Given the description of an element on the screen output the (x, y) to click on. 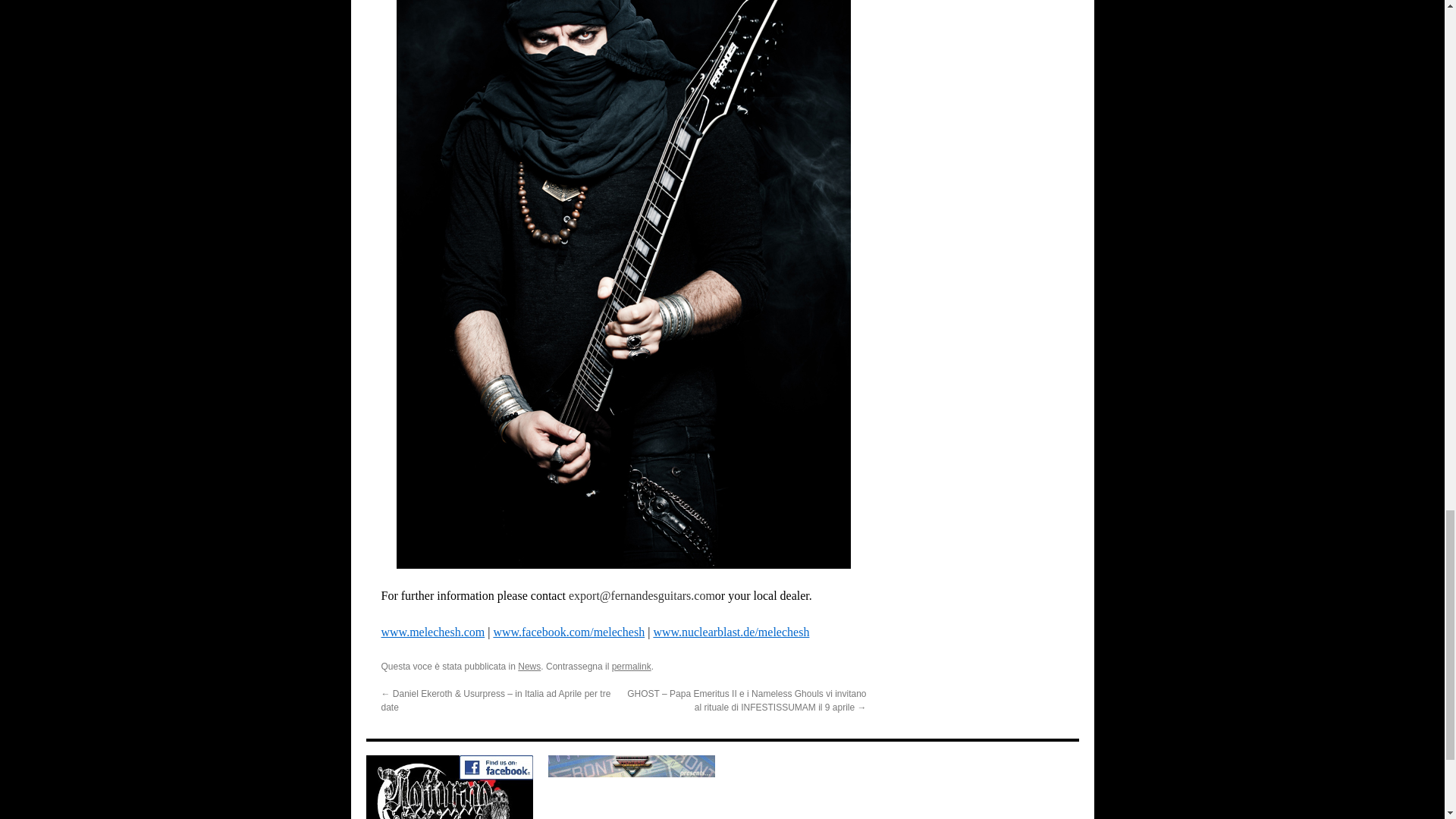
News (529, 665)
www.melechesh.com (432, 631)
permalink (630, 665)
